Given the description of an element on the screen output the (x, y) to click on. 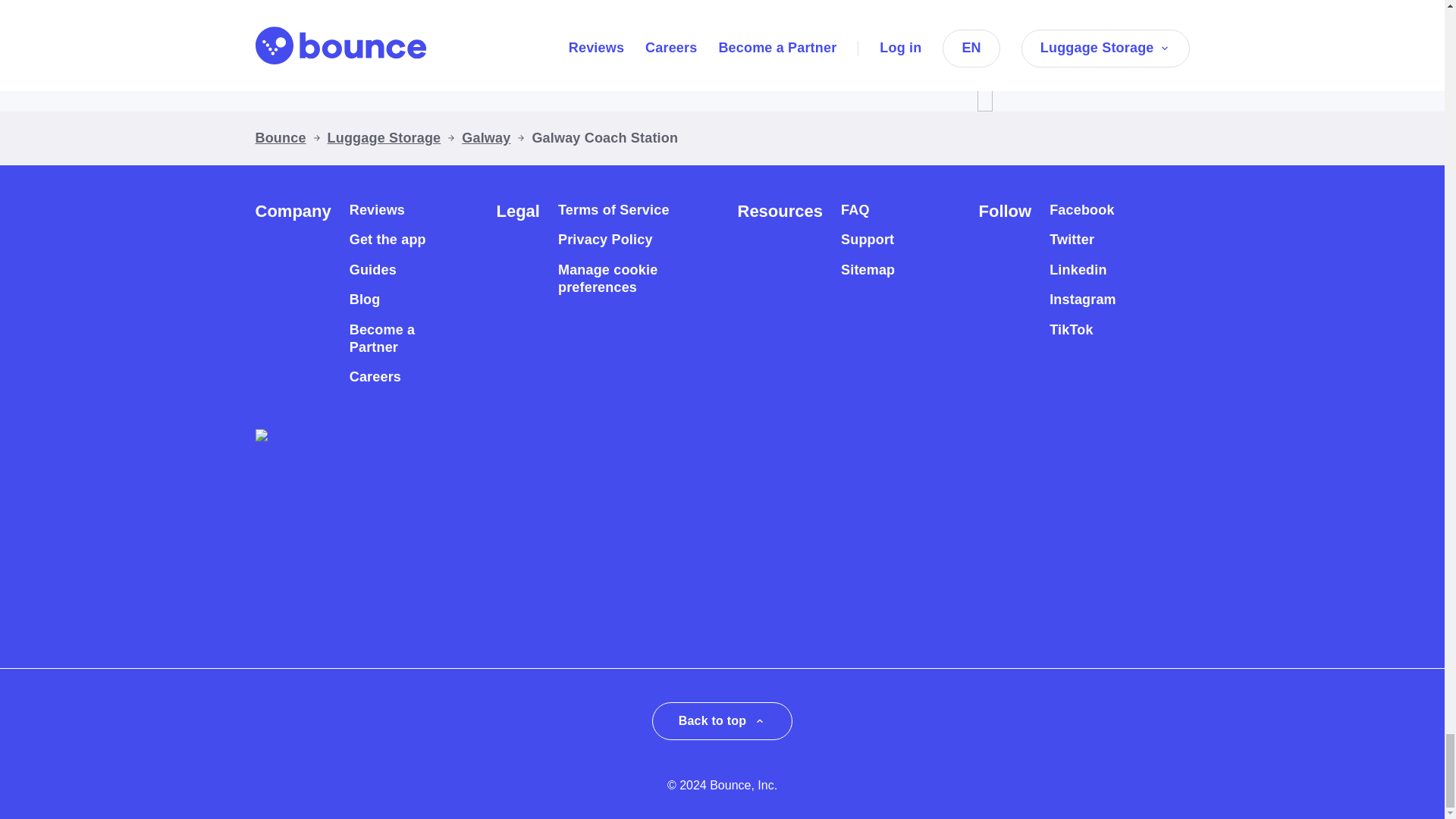
Get the app (387, 239)
Manage cookie preferences (619, 279)
Bounce (279, 138)
Terms of Service (613, 210)
Blog (364, 299)
Guides (372, 270)
Sitemap (868, 270)
Luggage Storage (384, 138)
Become a Partner (395, 339)
FAQ (855, 210)
Careers (375, 376)
Reviews (376, 210)
Support (867, 239)
Facebook (1081, 210)
Privacy Policy (604, 239)
